Given the description of an element on the screen output the (x, y) to click on. 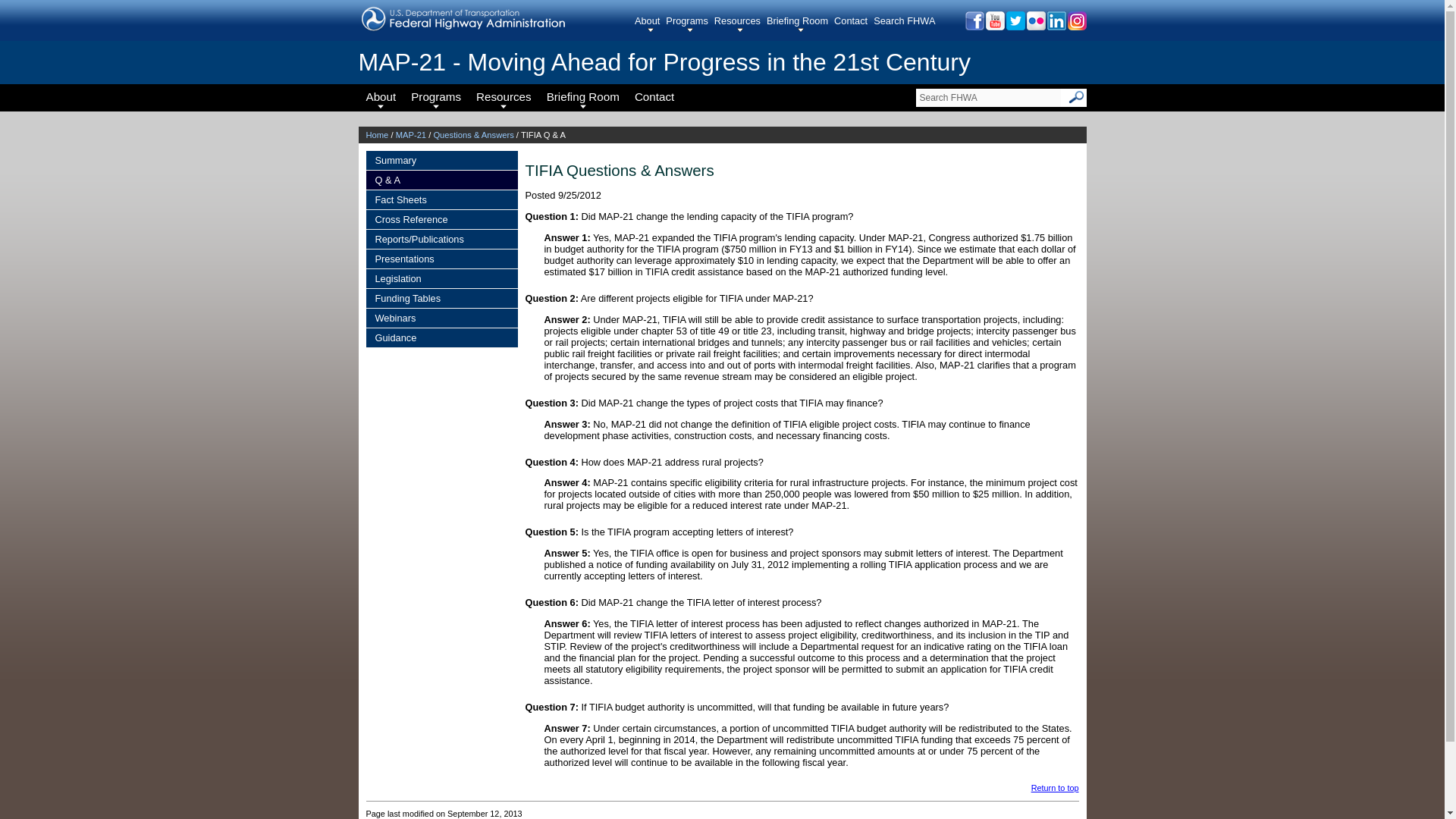
Programs (689, 23)
Watch Us on YouTube (994, 25)
Search FHWA (988, 97)
Search FHWA (988, 97)
Search (1076, 96)
Resources (740, 23)
About (649, 23)
Briefing Room (800, 23)
Follow Us on Twitter (1014, 25)
Like Us on Facebook (973, 25)
